Given the description of an element on the screen output the (x, y) to click on. 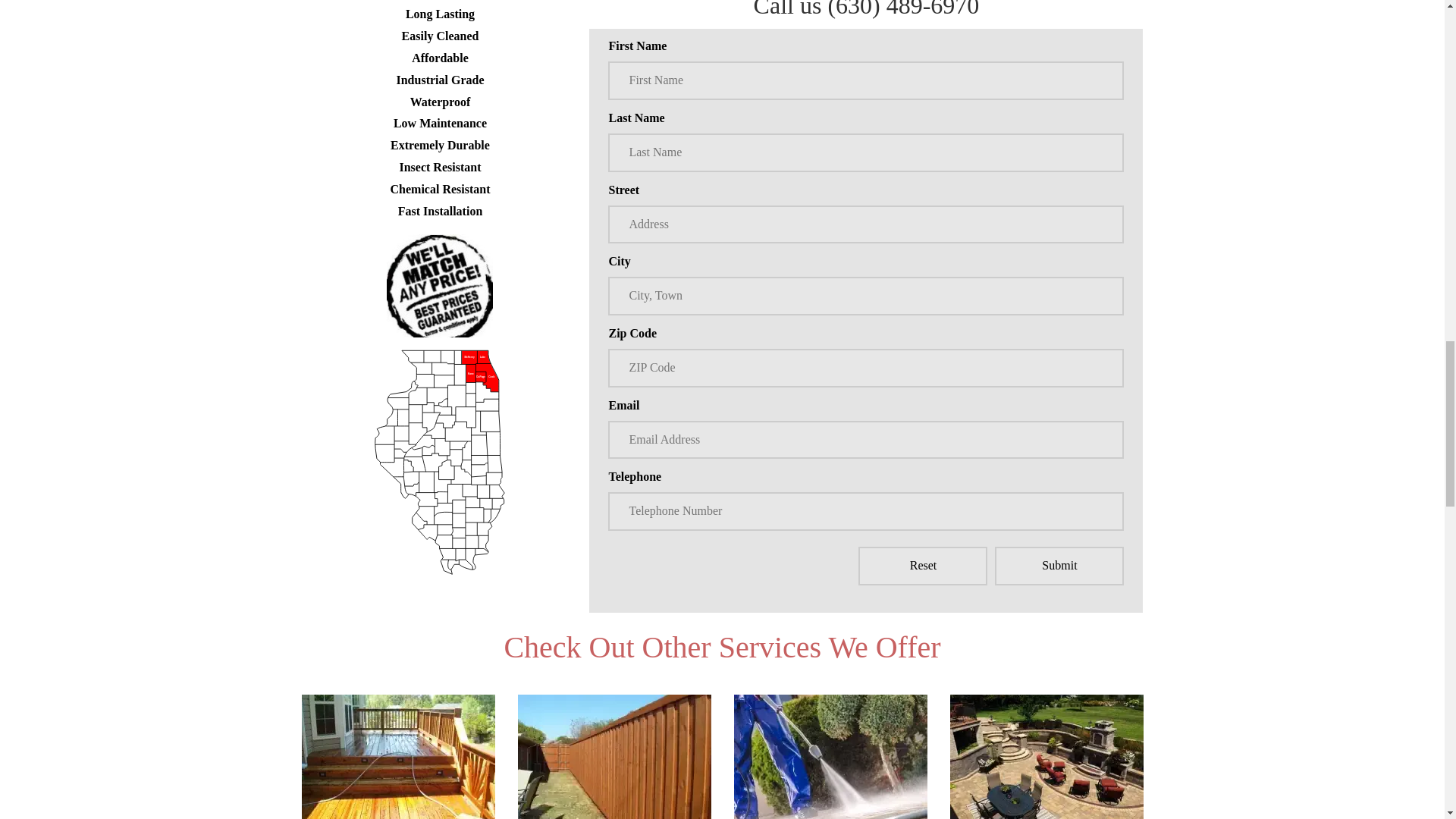
Submit (1059, 566)
Reset (923, 566)
